Given the description of an element on the screen output the (x, y) to click on. 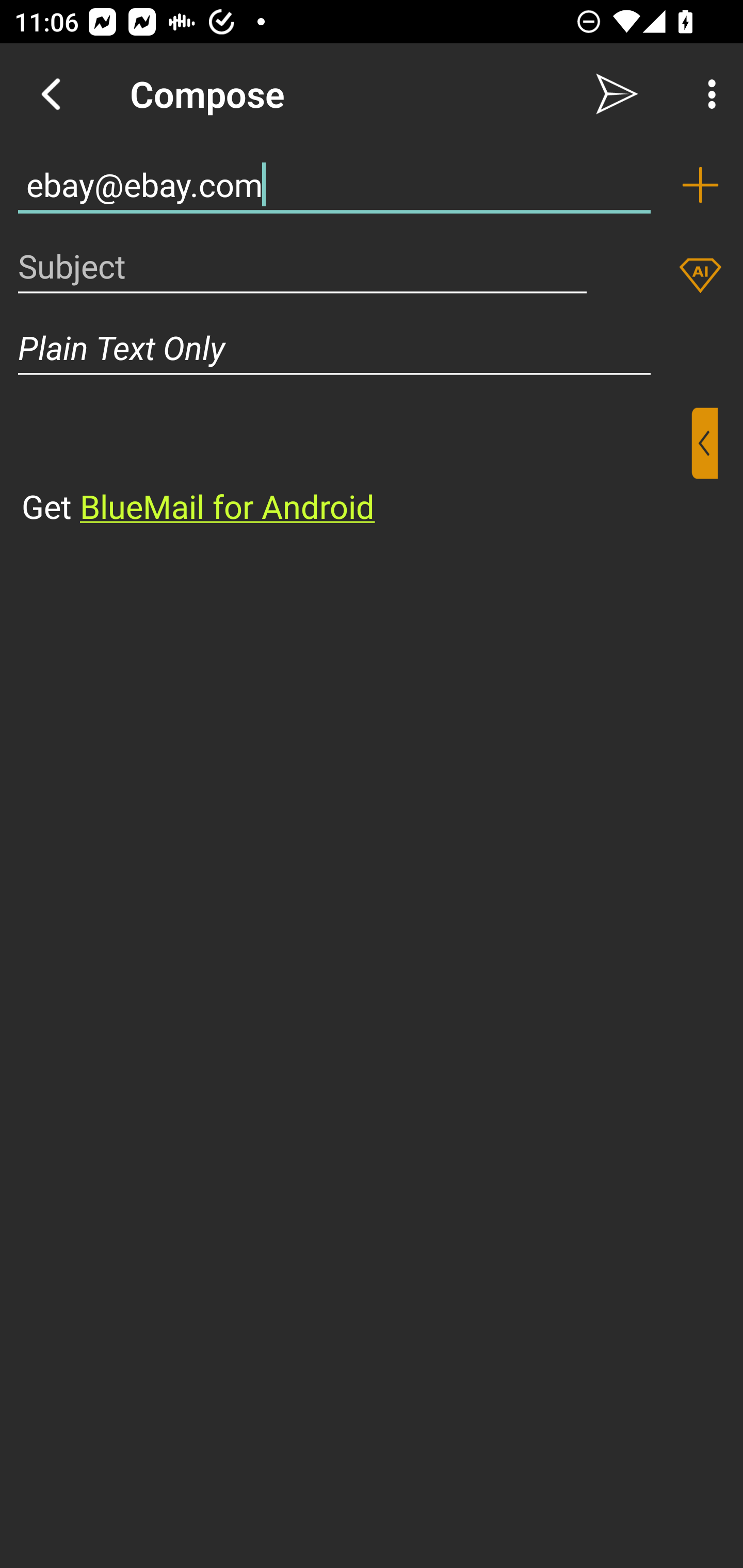
Navigate up (50, 93)
Send (616, 93)
More Options (706, 93)
 ebay@ebay.com (334, 184)
Add recipient (To) (699, 184)
Subject (302, 266)
Plain Text Only (371, 347)


⁣Get BlueMail for Android ​ (355, 468)
